Given the description of an element on the screen output the (x, y) to click on. 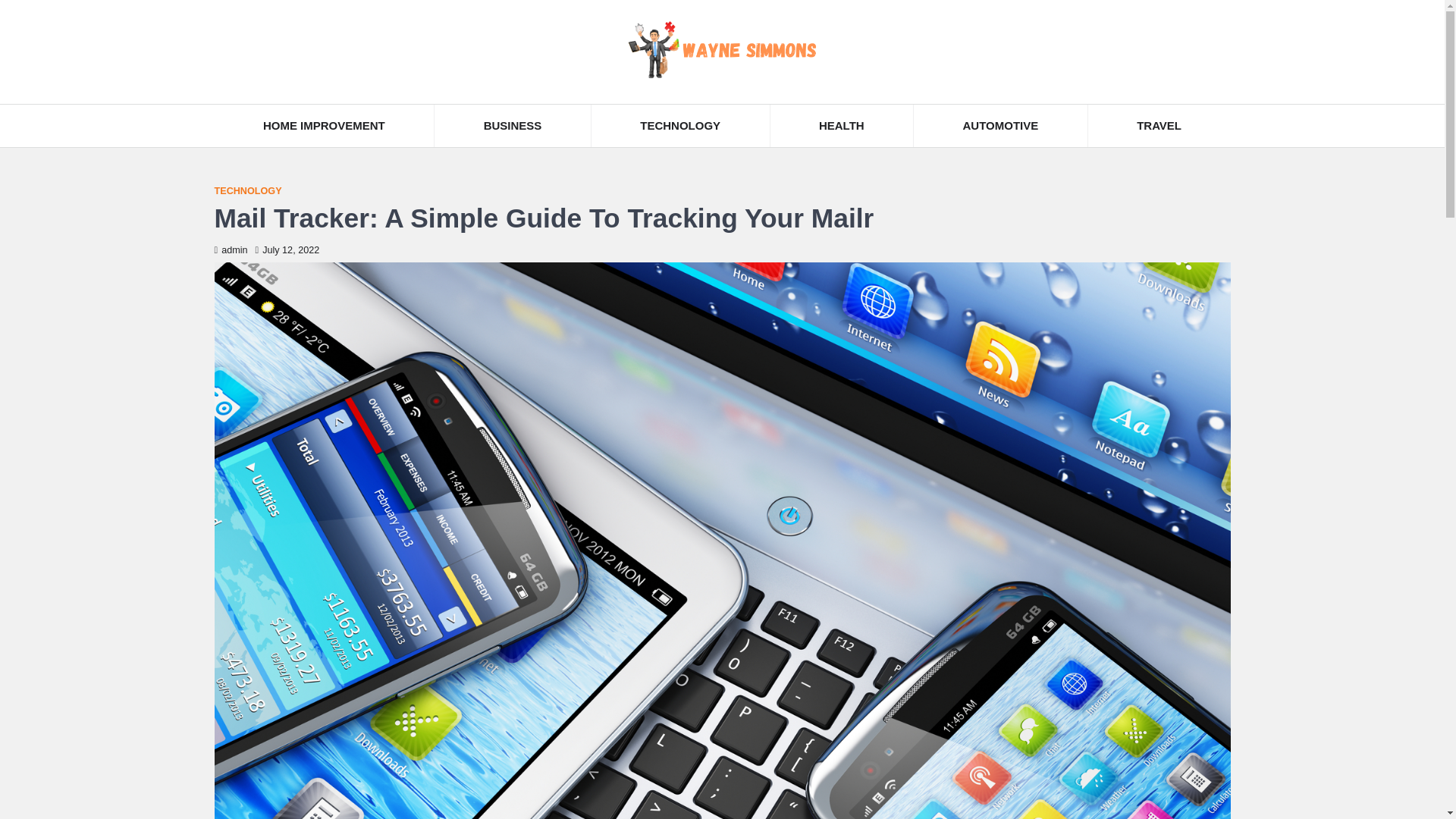
HOME IMPROVEMENT (323, 126)
admin (230, 249)
HEALTH (842, 126)
AUTOMOTIVE (1000, 126)
TECHNOLOGY (680, 126)
TRAVEL (1158, 126)
TECHNOLOGY (247, 191)
BUSINESS (512, 126)
July 12, 2022 (288, 249)
